Given the description of an element on the screen output the (x, y) to click on. 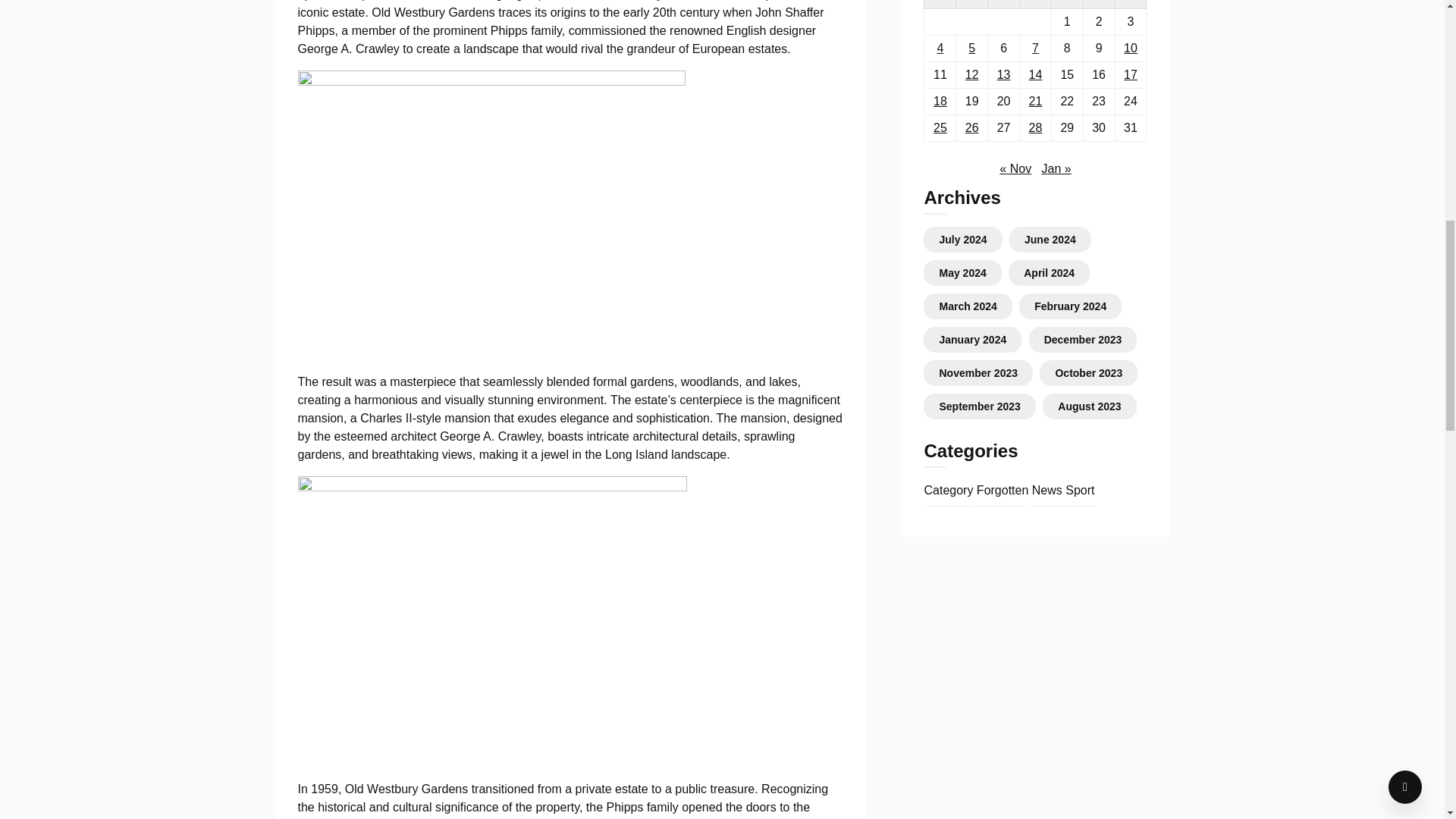
Wednesday (1004, 4)
28 (1035, 127)
25 (940, 127)
26 (971, 127)
April 2024 (1048, 272)
Sunday (1131, 4)
12 (971, 74)
17 (1130, 74)
Friday (1067, 4)
July 2024 (963, 239)
14 (1035, 74)
21 (1035, 101)
May 2024 (962, 272)
13 (1003, 74)
June 2024 (1050, 239)
